Given the description of an element on the screen output the (x, y) to click on. 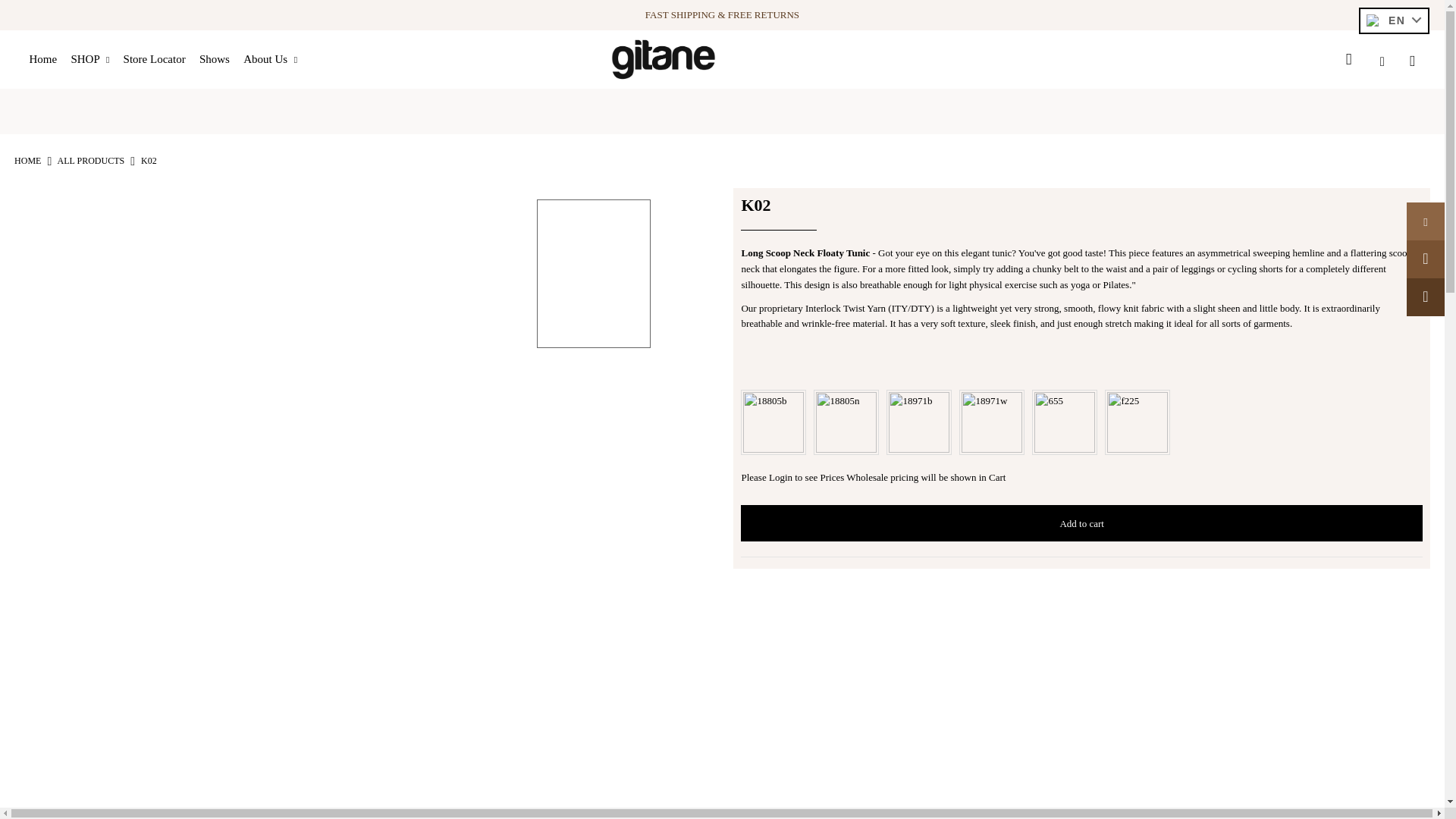
HOME (27, 160)
Add to cart (1081, 523)
ALL PRODUCTS (91, 160)
Home (27, 160)
Shows (220, 59)
Store Locator (159, 59)
Please Login to see Prices (793, 477)
About Us (275, 59)
Home (48, 59)
SHOP (94, 59)
